Given the description of an element on the screen output the (x, y) to click on. 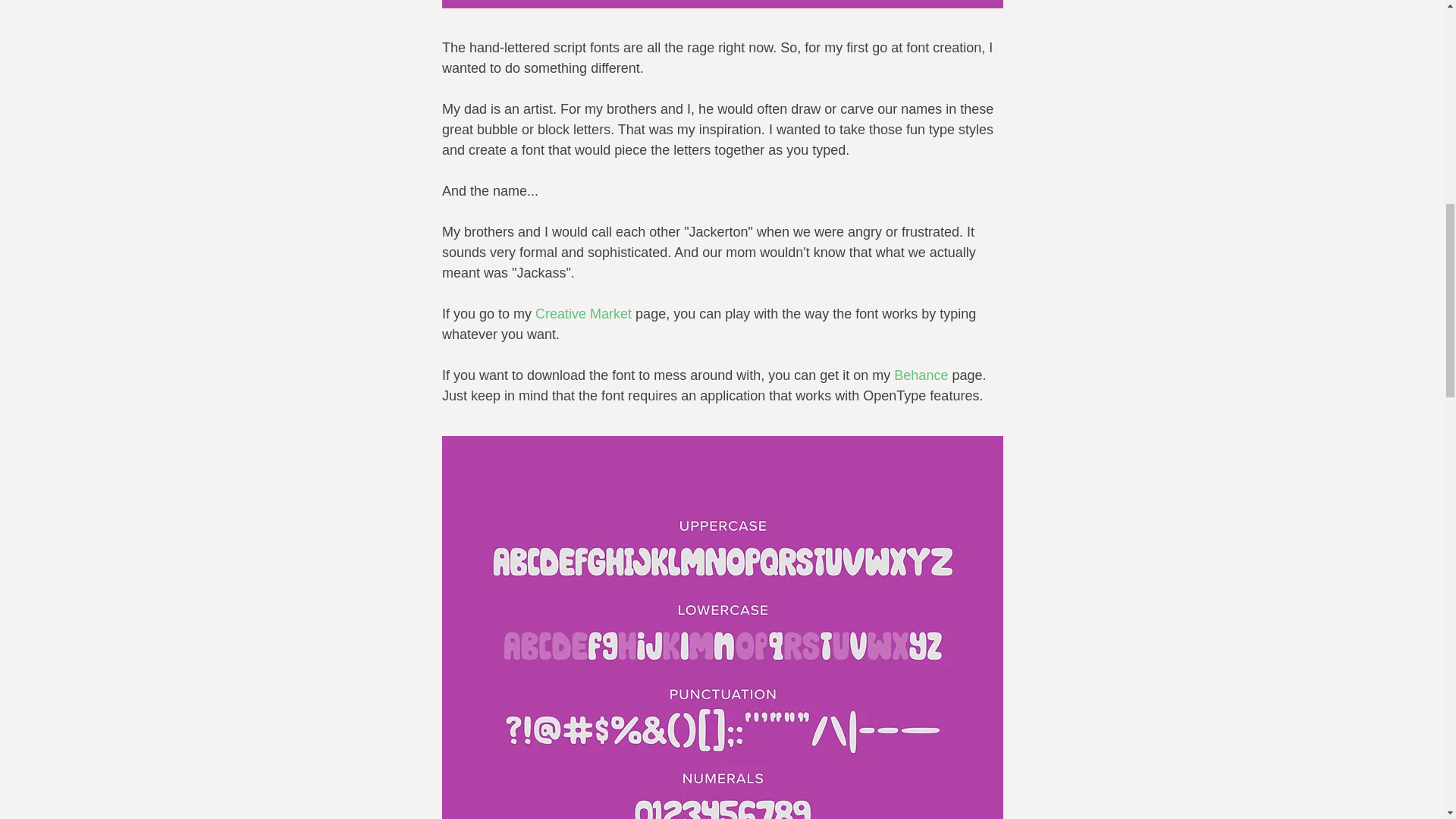
Creative Market (583, 313)
Behance (920, 375)
